Given the description of an element on the screen output the (x, y) to click on. 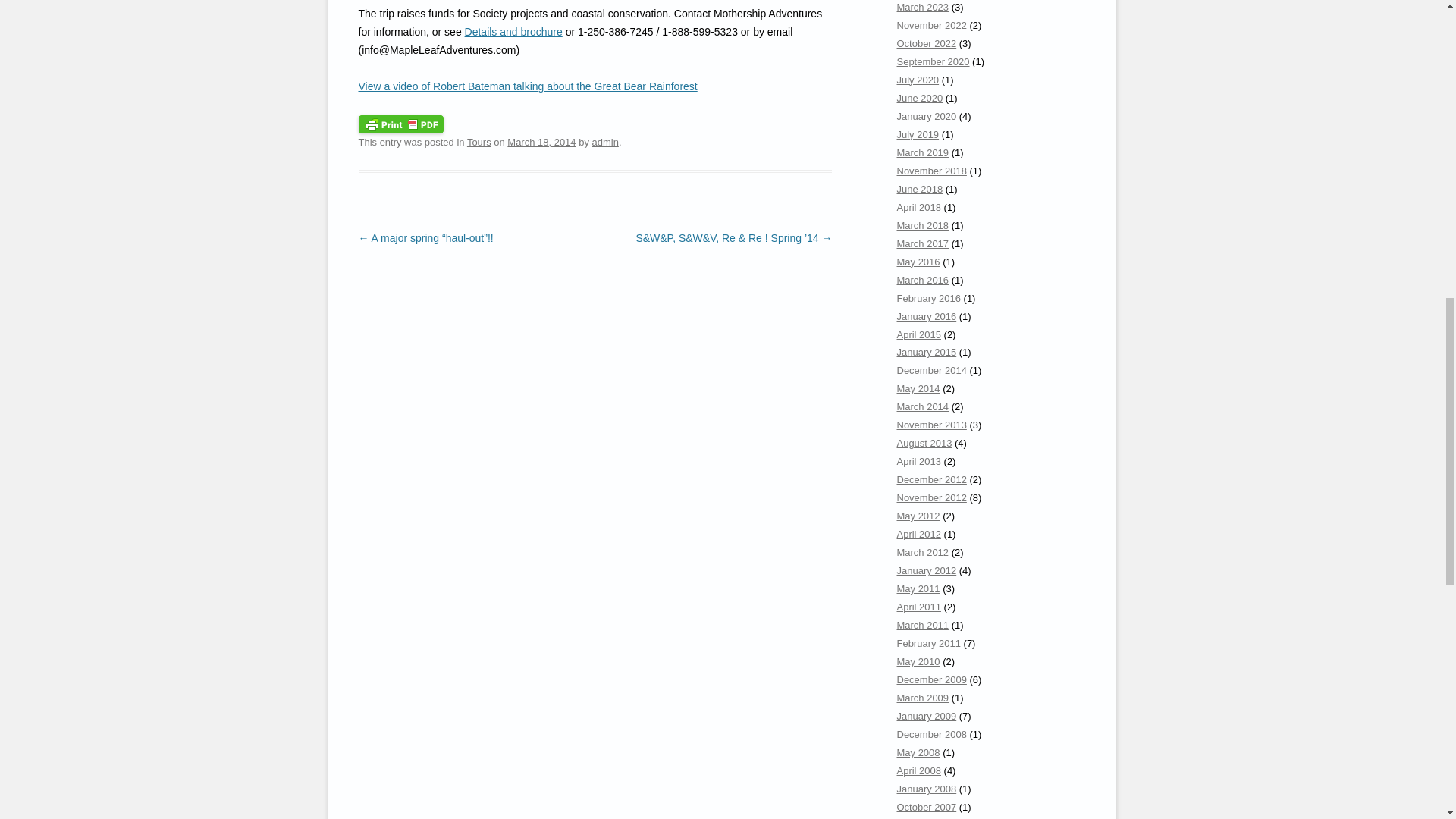
March 2023 (922, 7)
Details and brochure (513, 31)
admin (604, 142)
March 18, 2014 (540, 142)
November 2022 (931, 25)
View all posts by admin (604, 142)
October 2022 (926, 43)
Tours (479, 142)
